Given the description of an element on the screen output the (x, y) to click on. 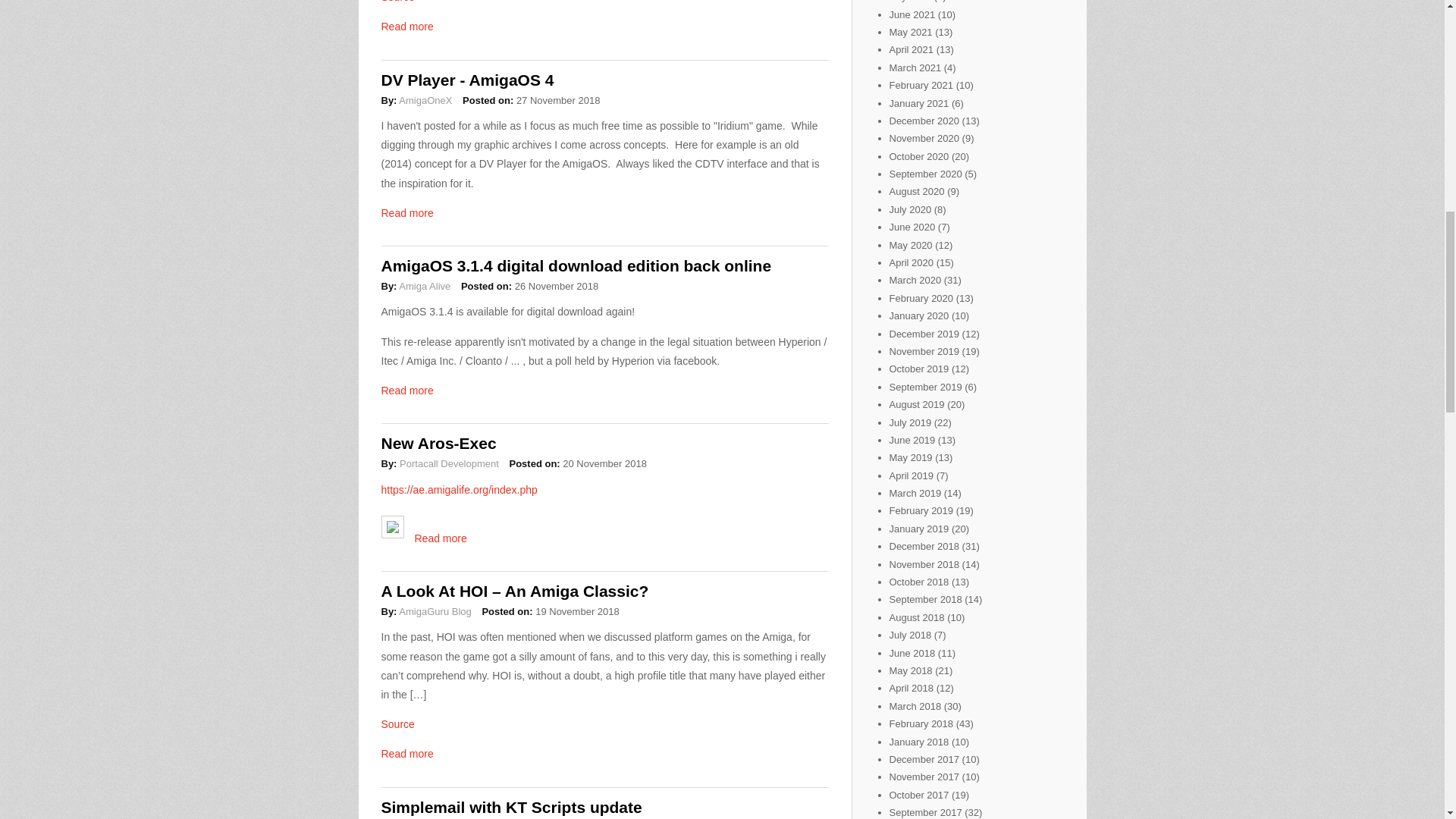
Simplemail with KT Scripts update (511, 806)
New Aros-Exec (438, 443)
Portacall Development (448, 463)
AmigaGuru Blog (434, 611)
AmigaOneX (424, 100)
Read more (439, 538)
Read more (406, 213)
AmigaOS 3.1.4 digital download edition back online (575, 265)
Read more (406, 26)
Source (396, 724)
Source (396, 1)
Read more (406, 753)
Amiga Alive (423, 285)
Read more (406, 390)
DV Player - AmigaOS 4 (466, 79)
